Given the description of an element on the screen output the (x, y) to click on. 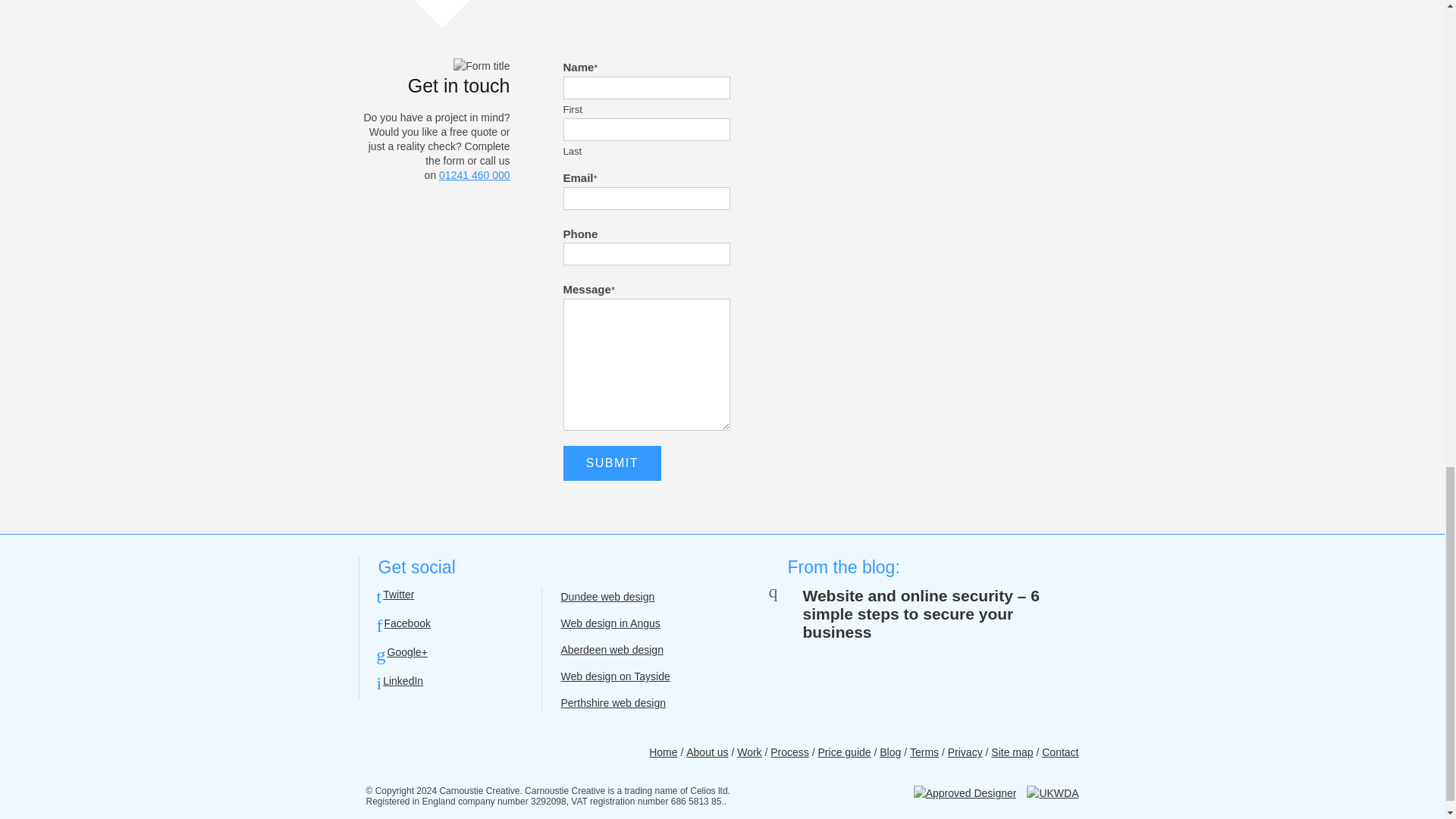
Twitter (395, 594)
Submit (611, 462)
Submit (611, 462)
Web design in Angus (610, 623)
LinkedIn (400, 680)
Facebook (403, 623)
Dundee web design (607, 596)
Web design on Tayside (614, 676)
Home (663, 752)
Aberdeen web design (611, 649)
About us (706, 752)
Perthshire web design (613, 702)
01241 460 000 (474, 174)
Process (789, 752)
Work (748, 752)
